Given the description of an element on the screen output the (x, y) to click on. 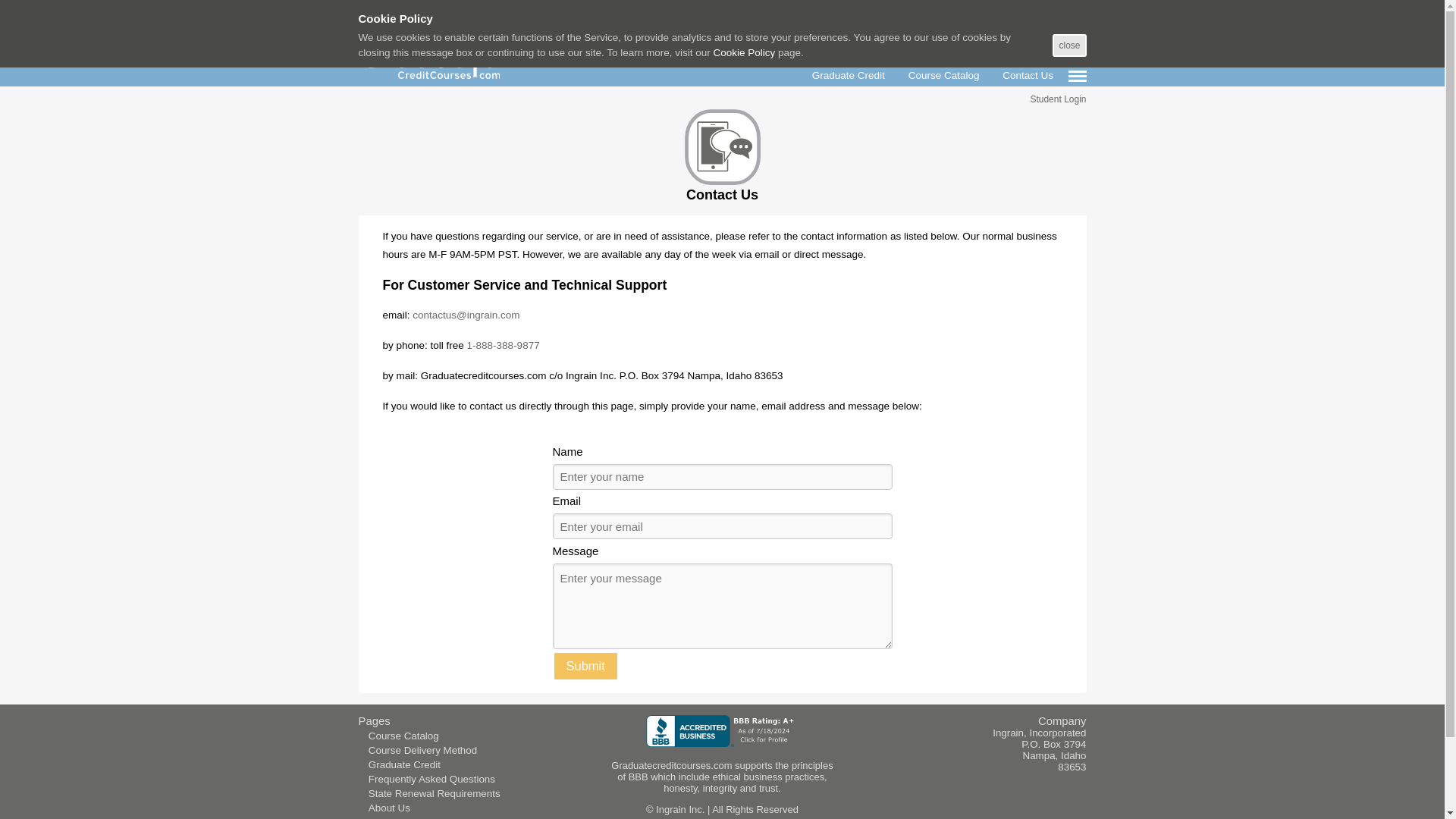
Course Catalog (403, 736)
Graduate Credit (404, 764)
1-888-388-9877 (503, 345)
Frequently Asked Questions (431, 778)
Student Login (1057, 99)
Contact Us (393, 817)
Contact Us (1028, 63)
Graduate Credit (848, 63)
Course Catalog (944, 63)
close (1069, 45)
Submit (584, 665)
Course Delivery Method (422, 749)
About Us (389, 808)
State Renewal Requirements (434, 793)
Cookie Policy (743, 52)
